Given the description of an element on the screen output the (x, y) to click on. 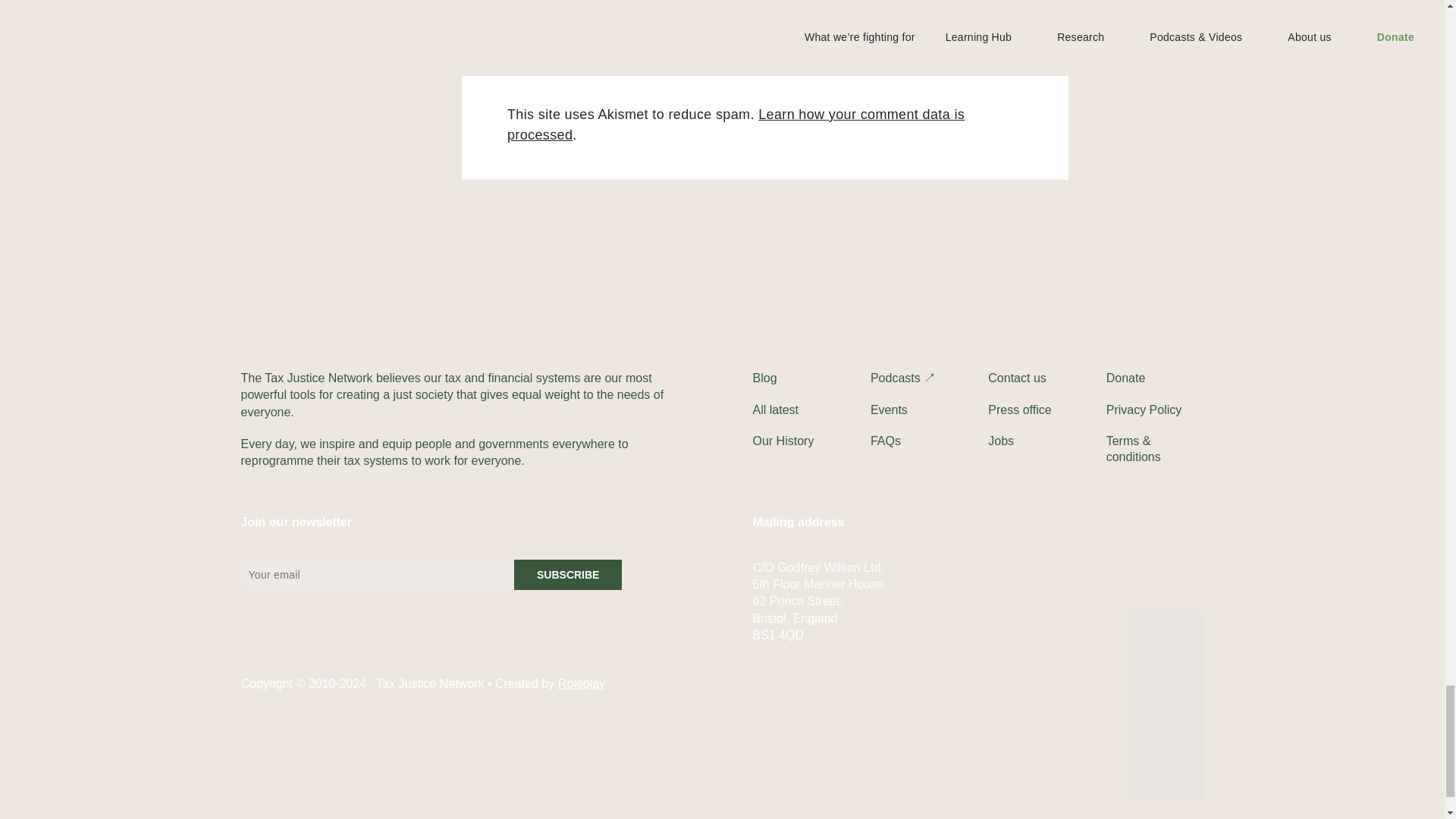
Post Comment (568, 51)
yes (511, 17)
